Given the description of an element on the screen output the (x, y) to click on. 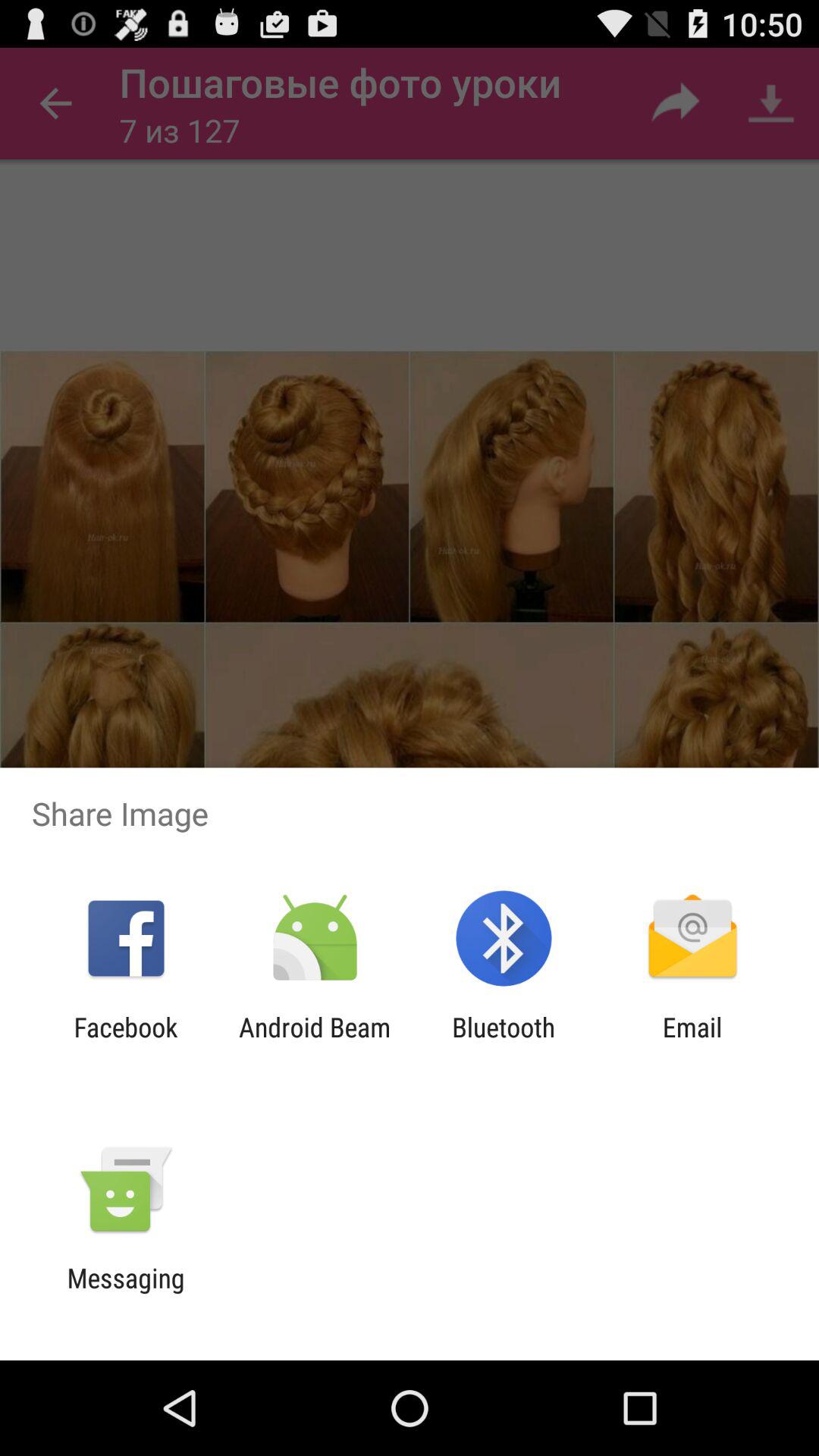
launch app to the left of the android beam app (125, 1042)
